Given the description of an element on the screen output the (x, y) to click on. 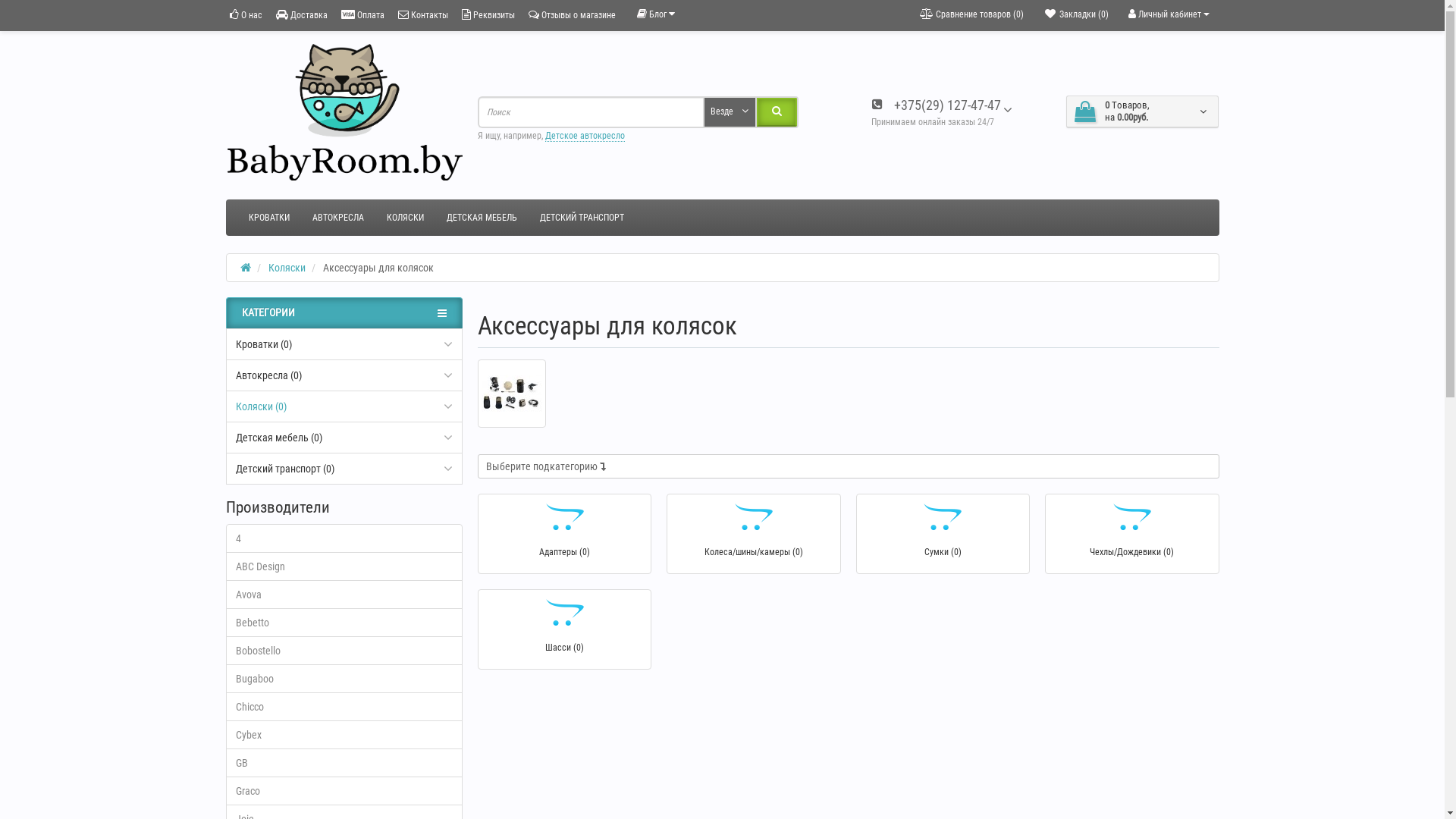
BabyRoom.by Element type: hover (344, 111)
Cybex Element type: text (344, 734)
GB Element type: text (344, 762)
Bugaboo Element type: text (344, 678)
4 Element type: text (344, 538)
ABC Design Element type: text (344, 566)
Chicco Element type: text (344, 706)
Graco Element type: text (344, 790)
Bebetto Element type: text (344, 622)
Avova Element type: text (344, 594)
Bobostello Element type: text (344, 650)
